Given the description of an element on the screen output the (x, y) to click on. 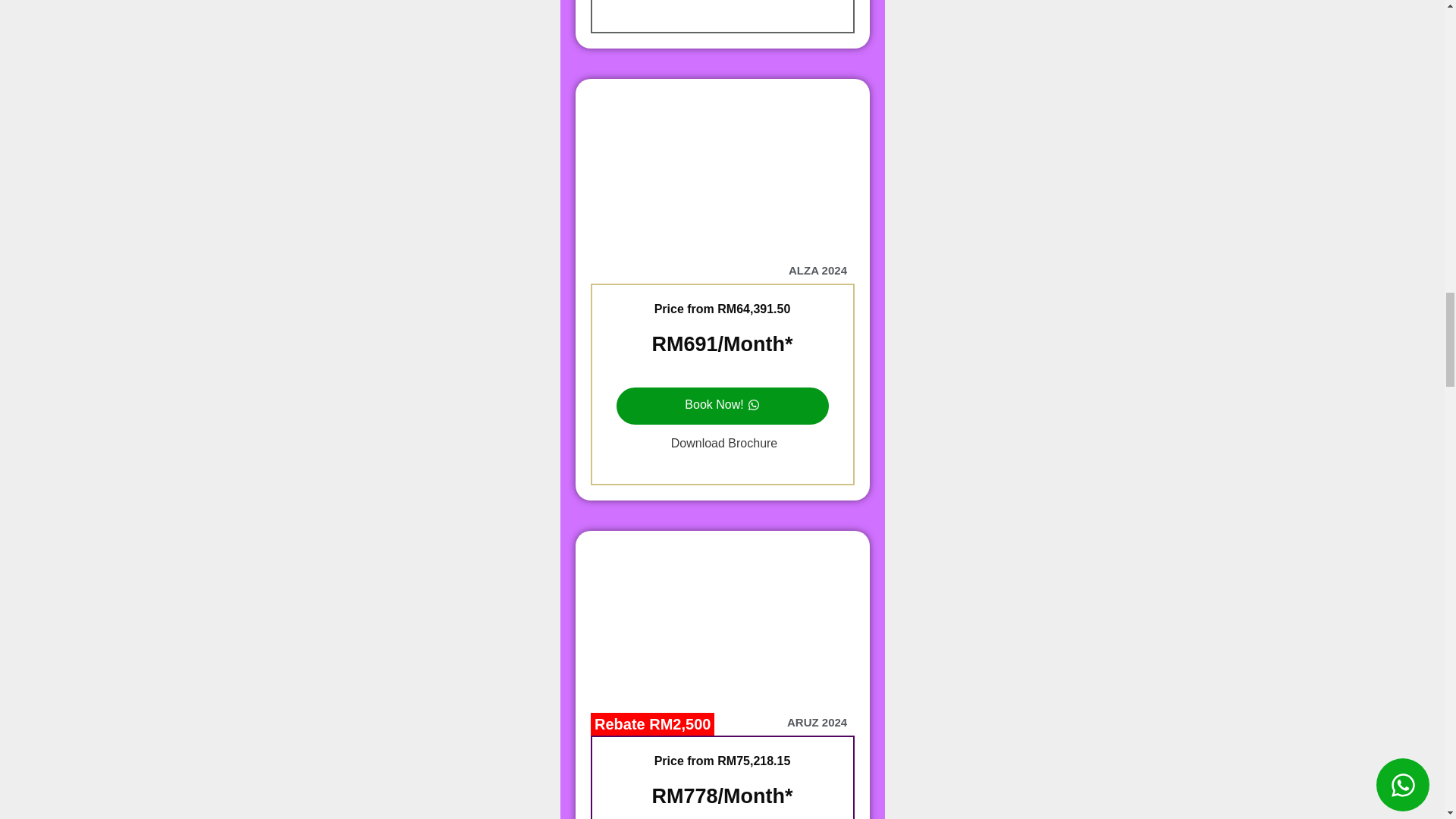
Book Now! (721, 405)
Download Brochure (721, 443)
Download Brochure (721, 4)
